Given the description of an element on the screen output the (x, y) to click on. 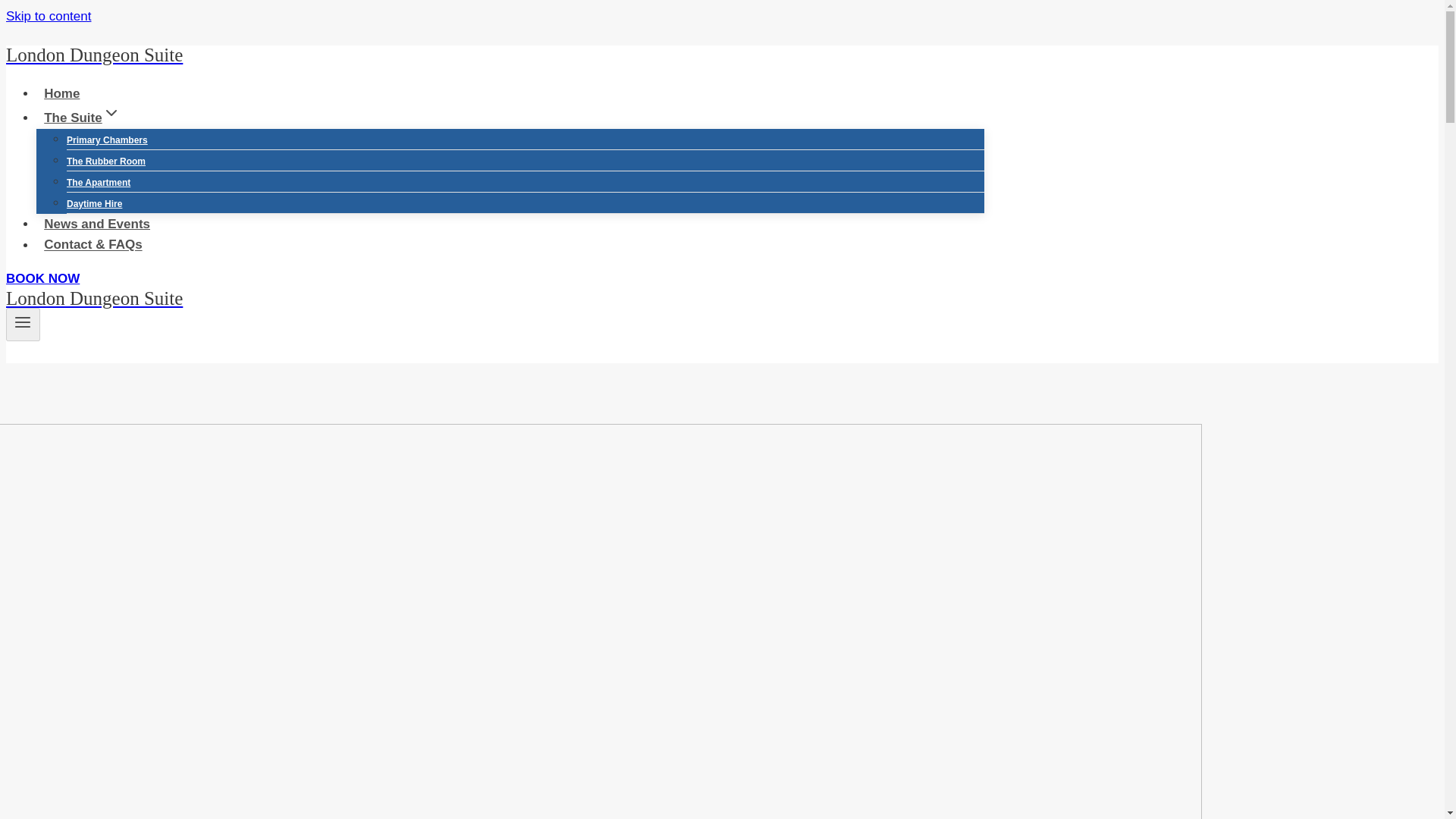
The Apartment (98, 182)
Daytime Hire (94, 203)
London Dungeon Suite (494, 298)
Toggle Menu (22, 321)
BOOK NOW (42, 278)
The SuiteExpand (82, 117)
London Dungeon Suite (494, 54)
The Rubber Room (105, 161)
Primary Chambers (107, 140)
Toggle Menu (22, 324)
